Given the description of an element on the screen output the (x, y) to click on. 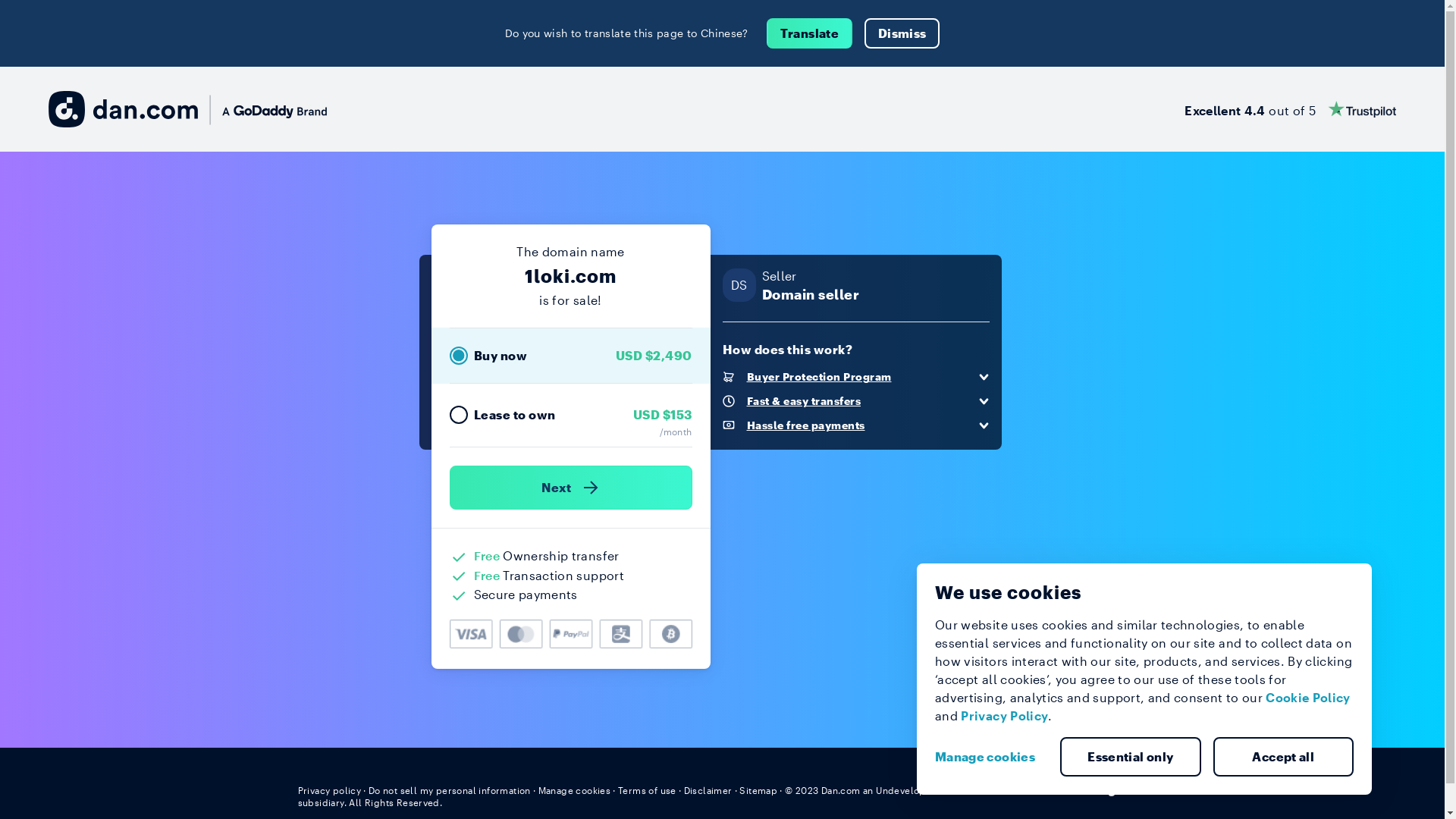
Manage cookies Element type: text (574, 790)
Excellent 4.4 out of 5 Element type: text (1290, 109)
Essential only Element type: text (1130, 756)
Privacy Policy Element type: text (1004, 715)
Sitemap Element type: text (758, 789)
Translate Element type: text (809, 33)
Cookie Policy Element type: text (1307, 697)
Dismiss Element type: text (901, 33)
Do not sell my personal information Element type: text (449, 789)
Next
) Element type: text (569, 487)
Manage cookies Element type: text (991, 756)
Accept all Element type: text (1283, 756)
Disclaimer Element type: text (708, 789)
English Element type: text (1119, 789)
Terms of use Element type: text (647, 789)
Privacy policy Element type: text (328, 789)
